Given the description of an element on the screen output the (x, y) to click on. 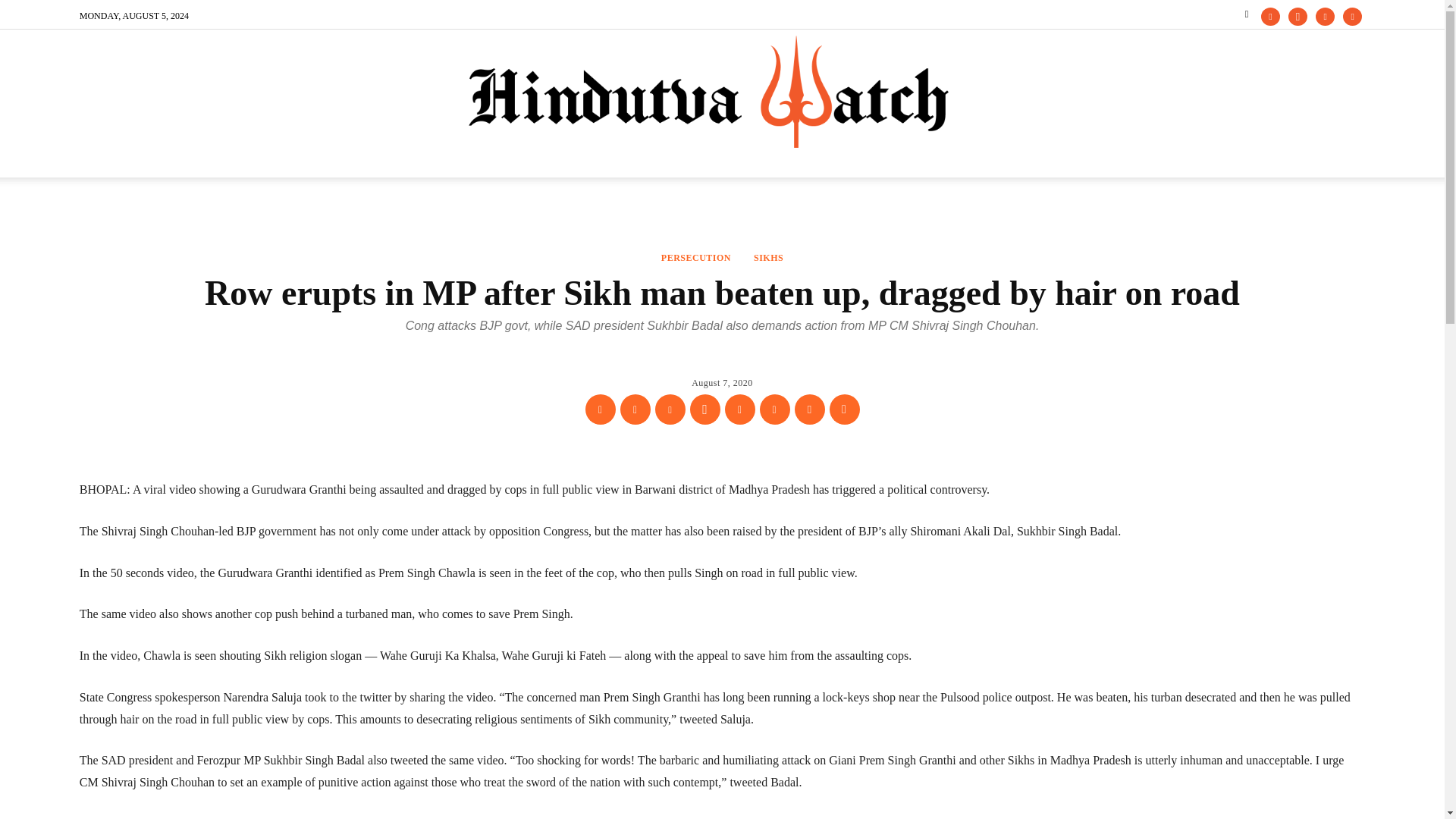
Telegram (844, 409)
Facebook (600, 409)
Linkedin (740, 409)
Twitter (635, 409)
Search (1322, 71)
Instagram (1297, 16)
ReddIt (775, 409)
Facebook (1269, 16)
Pinterest (670, 409)
Youtube (1351, 16)
